Given the description of an element on the screen output the (x, y) to click on. 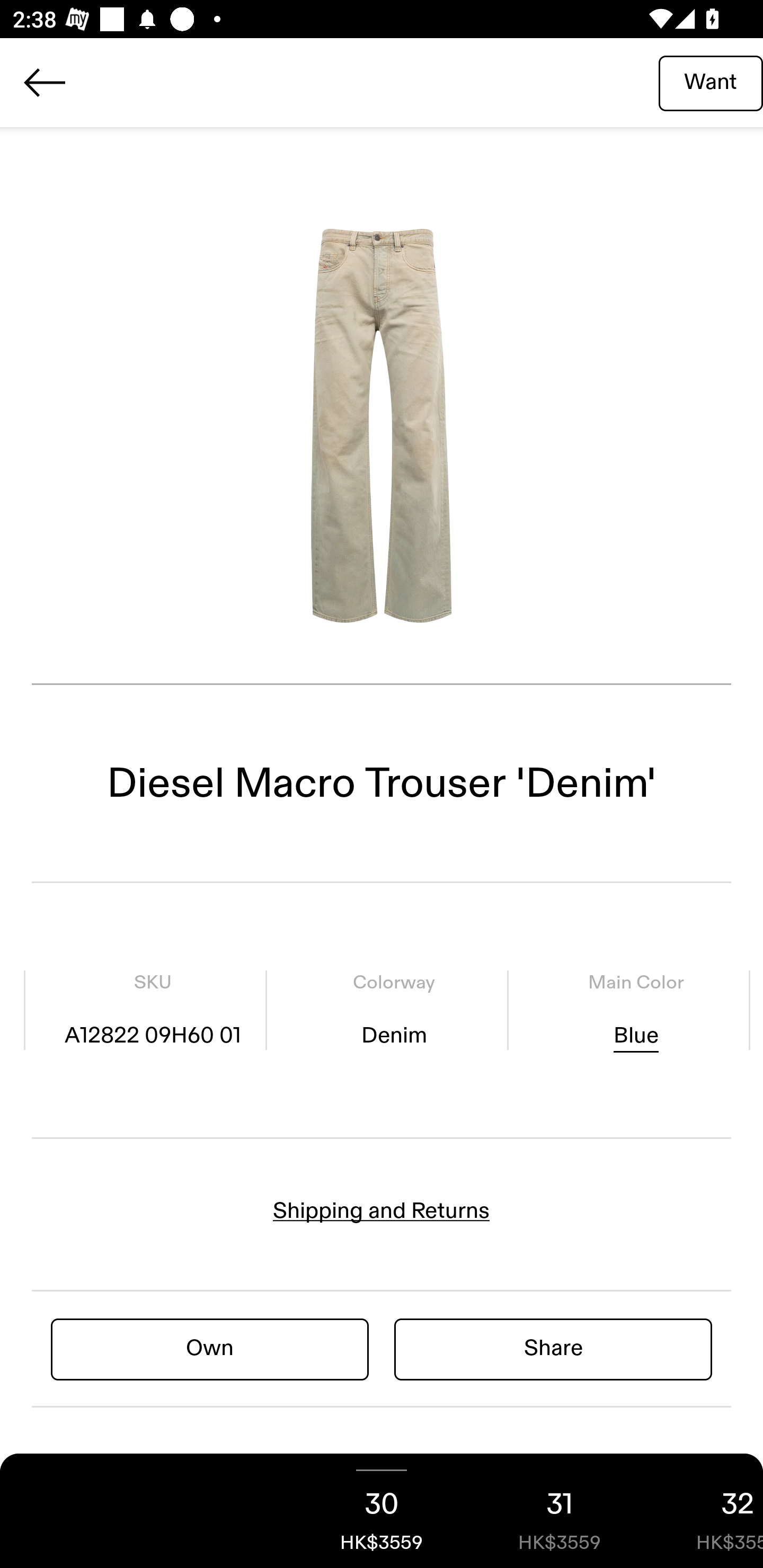
Want (710, 82)
SKU A12822 09H60 01 (152, 1009)
Colorway Denim (394, 1009)
Main Color Blue (635, 1009)
Shipping and Returns (381, 1211)
Own (209, 1348)
Share (552, 1348)
30 HK$3559 (381, 1510)
31 HK$3559 (559, 1510)
32 HK$3559 (705, 1510)
